Given the description of an element on the screen output the (x, y) to click on. 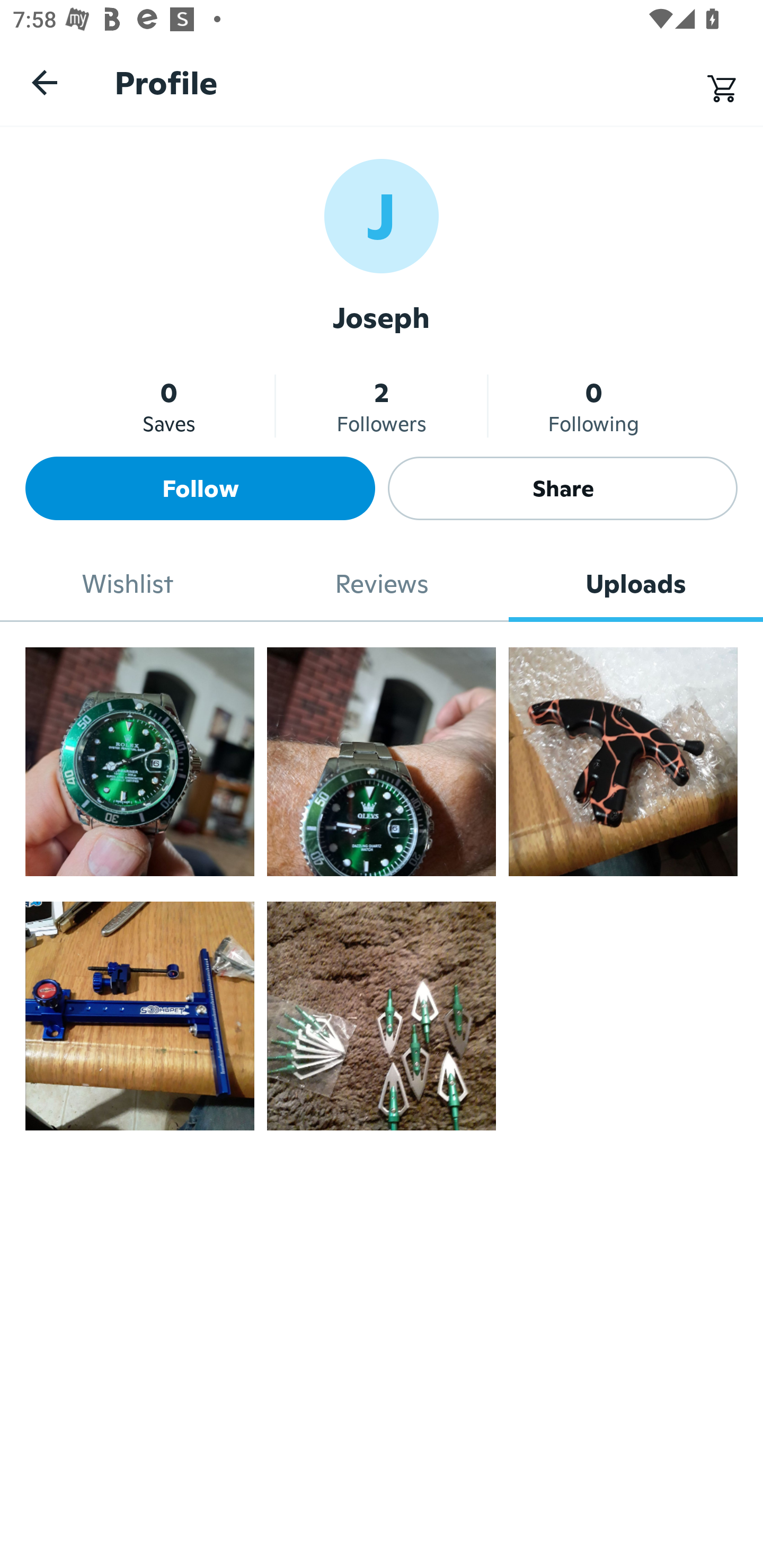
Navigate up (44, 82)
J (381, 215)
2 Followers (381, 405)
0 Following (593, 405)
Follow (200, 488)
Share (562, 488)
Wishlist (127, 583)
Reviews (381, 583)
Uploads (635, 583)
